Given the description of an element on the screen output the (x, y) to click on. 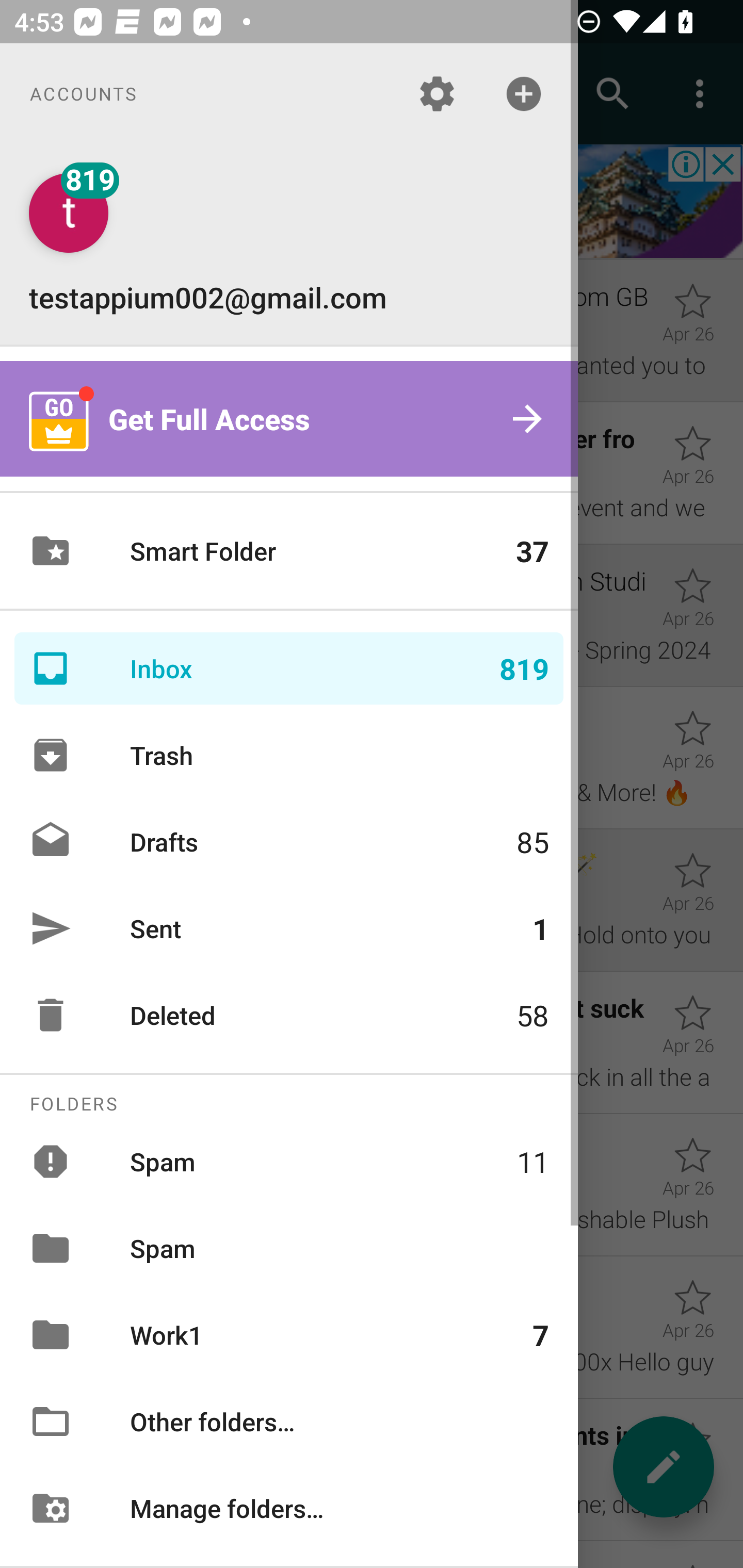
testappium002@gmail.com (289, 244)
Get Full Access (289, 418)
Smart Folder 37 (289, 551)
Inbox 819 (289, 668)
Trash (289, 754)
Drafts 85 (289, 841)
Sent 1 (289, 928)
Deleted 58 (289, 1015)
Spam 11 (289, 1160)
Spam (289, 1248)
Work1 7 (289, 1335)
Other folders… (289, 1421)
Manage folders… (289, 1507)
